Given the description of an element on the screen output the (x, y) to click on. 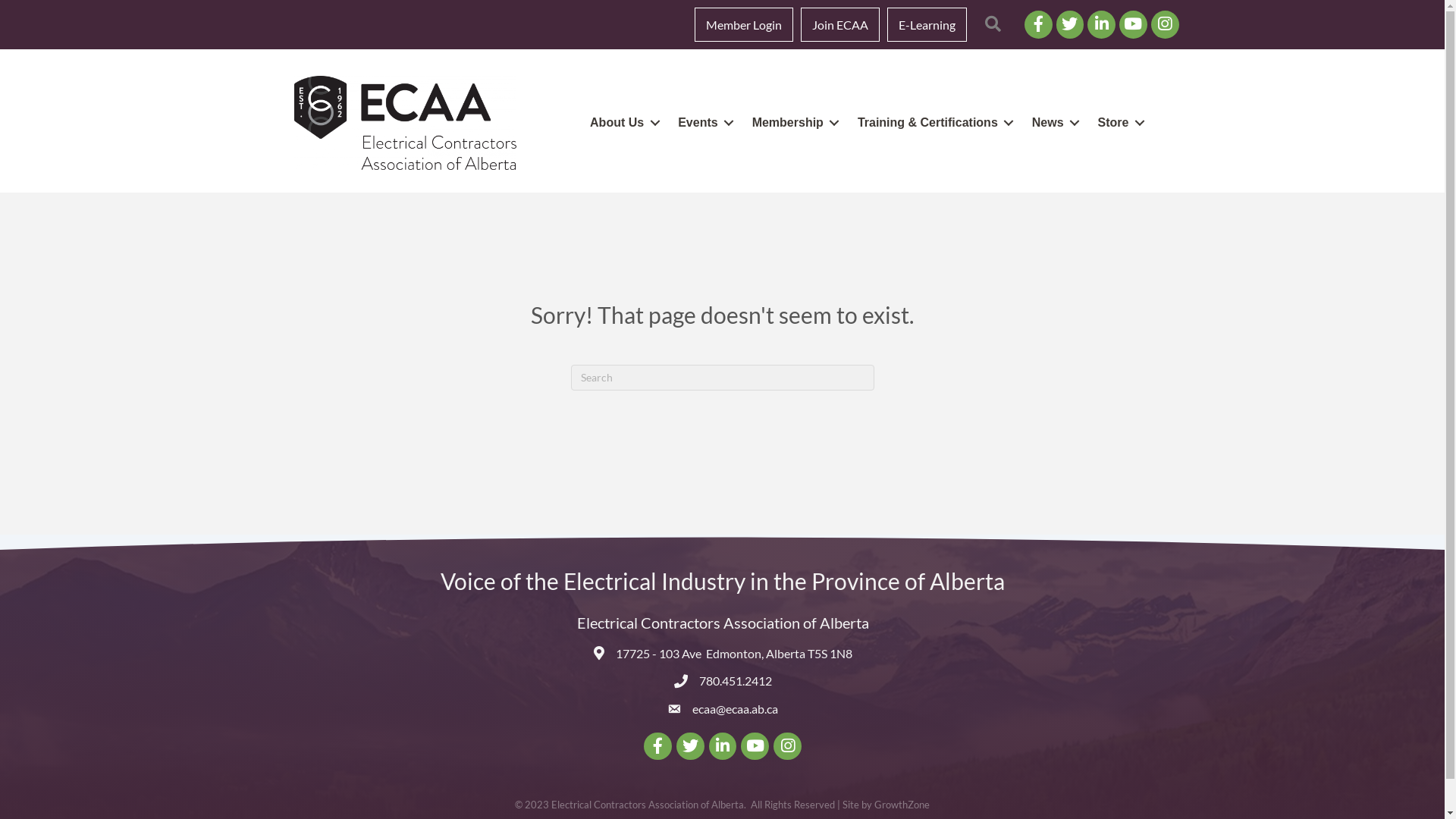
E-Learning Element type: text (926, 24)
News Element type: text (1052, 122)
Member Login Element type: text (743, 24)
ecaa@ecaa.ab.ca Element type: text (735, 708)
17725 - 103 Ave  Edmonton, Alberta T5S 1N8 Element type: text (733, 653)
780.451.2412 Element type: text (735, 680)
About Us Element type: text (621, 122)
Store Element type: text (1118, 122)
Join ECAA Element type: text (839, 24)
Type and press Enter to search. Element type: hover (721, 377)
Training & Certifications Element type: text (932, 122)
Events Element type: text (702, 122)
11750-22-ECAA-Vertical Logo-RGB Element type: hover (405, 122)
GrowthZone Element type: text (901, 804)
Membership Element type: text (792, 122)
